Given the description of an element on the screen output the (x, y) to click on. 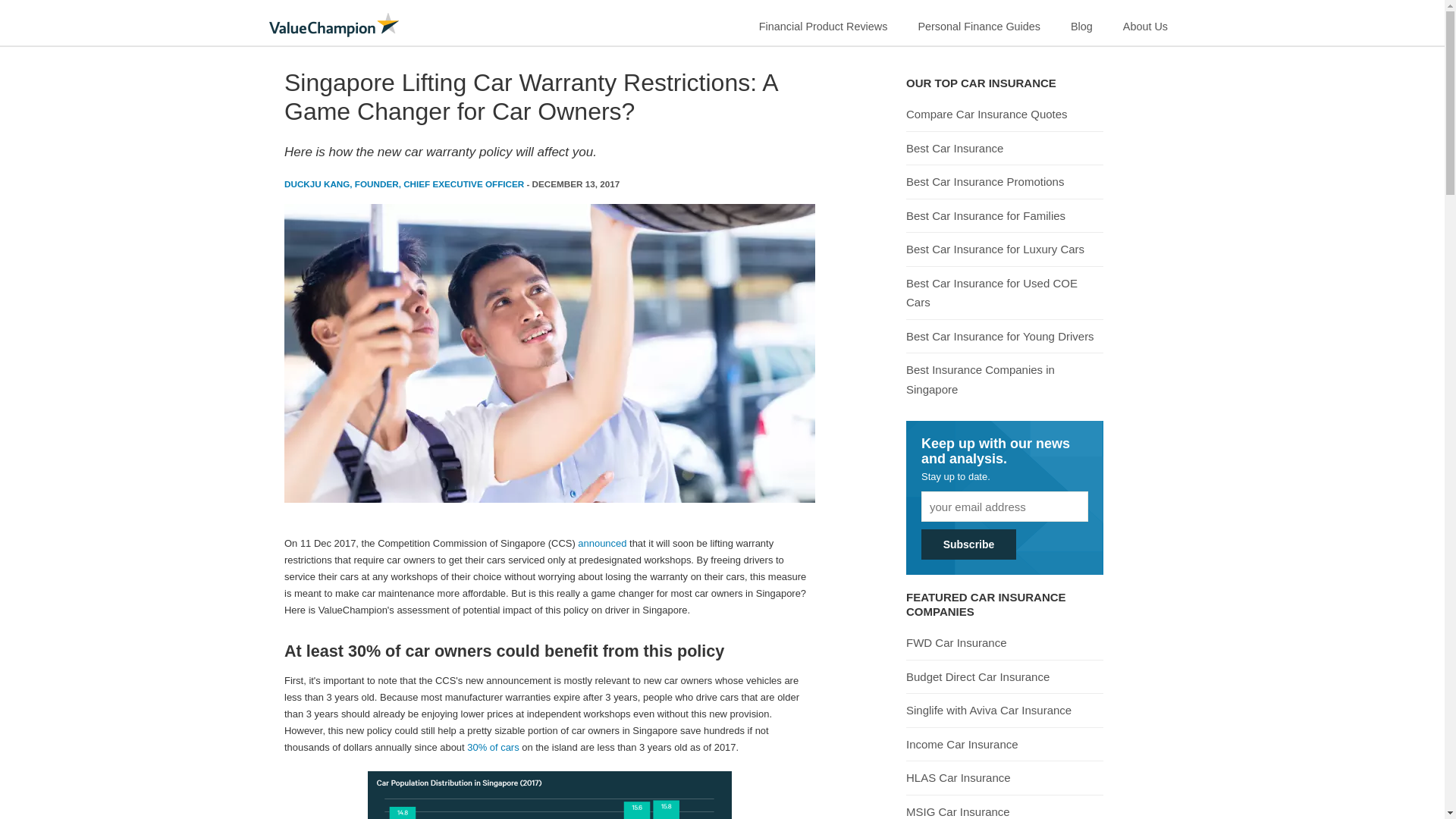
Best Car Insurance for Luxury Cars (994, 249)
Best Insurance Companies in Singapore (1004, 378)
FWD Car Insurance (956, 643)
Financial Product Reviews (823, 22)
Best Car Insurance for Used COE Cars (1004, 292)
Compare Car Insurance Quotes in Singapore (986, 114)
Home (333, 24)
announced (602, 542)
Best Car Insurance for Young Drivers (999, 336)
Best Car Insurance Promotions (984, 182)
Best Car Insurance for Families (985, 215)
Best Car Insurance (954, 148)
